Given the description of an element on the screen output the (x, y) to click on. 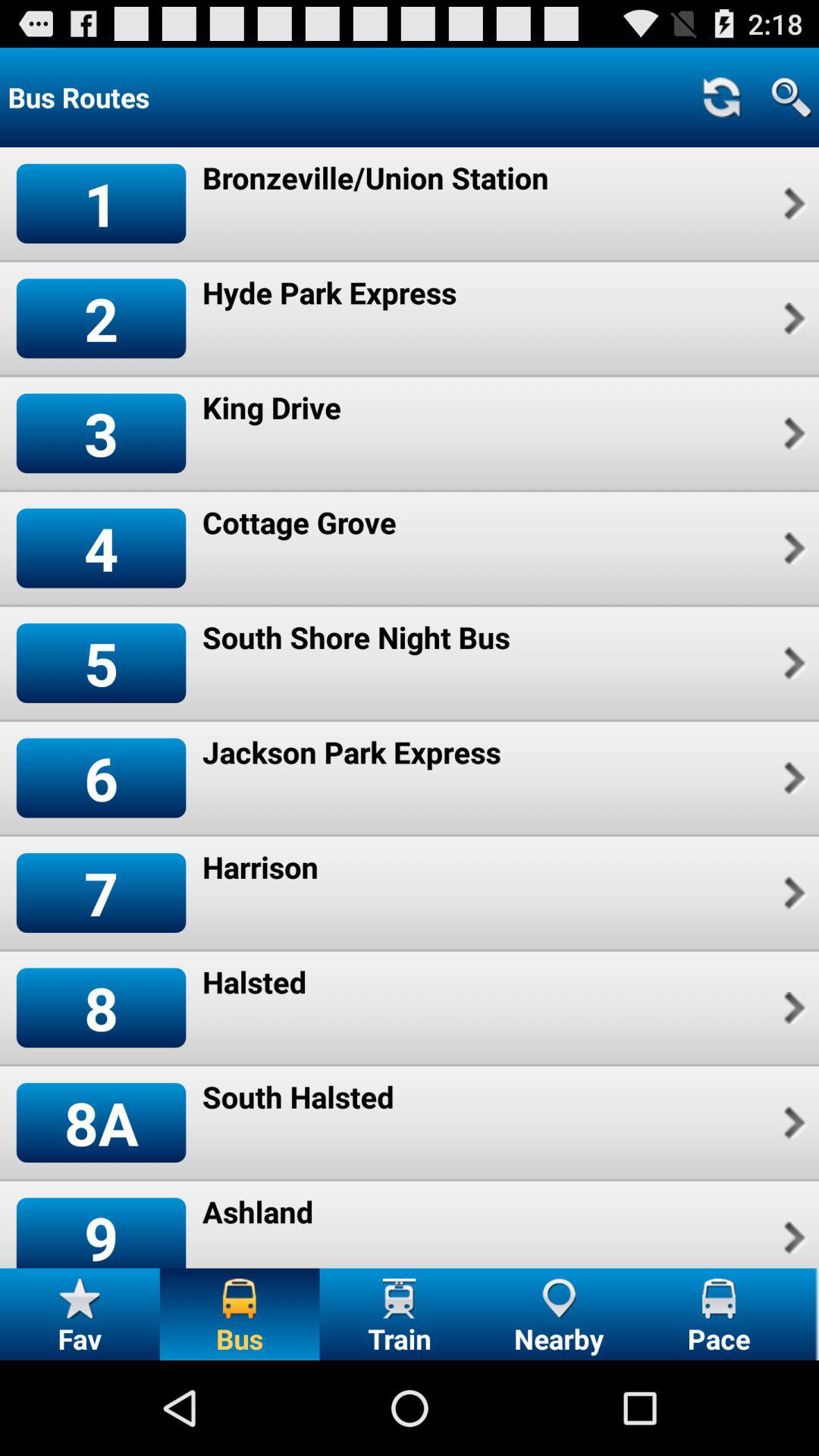
choose item next to the cottage grove icon (792, 548)
